Given the description of an element on the screen output the (x, y) to click on. 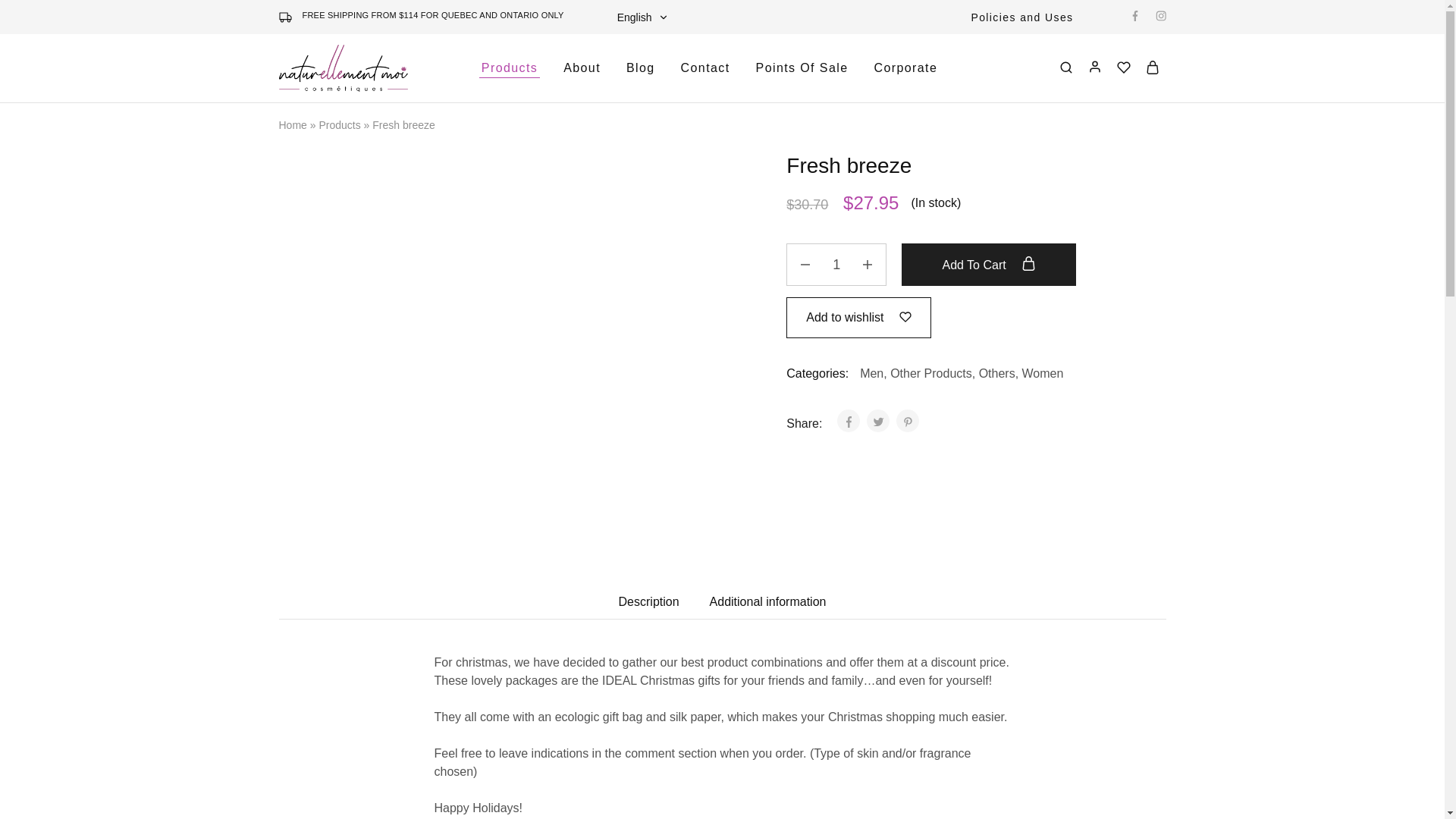
Men (871, 373)
Women (1043, 373)
Policies and Uses (1021, 17)
Points Of Sale (802, 67)
Contact (705, 67)
Description (648, 602)
1 (836, 264)
Add to wishlist (858, 317)
Corporate (904, 67)
Products (338, 124)
About (581, 67)
Additional information (768, 602)
Home (293, 124)
Others (996, 373)
Add To Cart (988, 264)
